Given the description of an element on the screen output the (x, y) to click on. 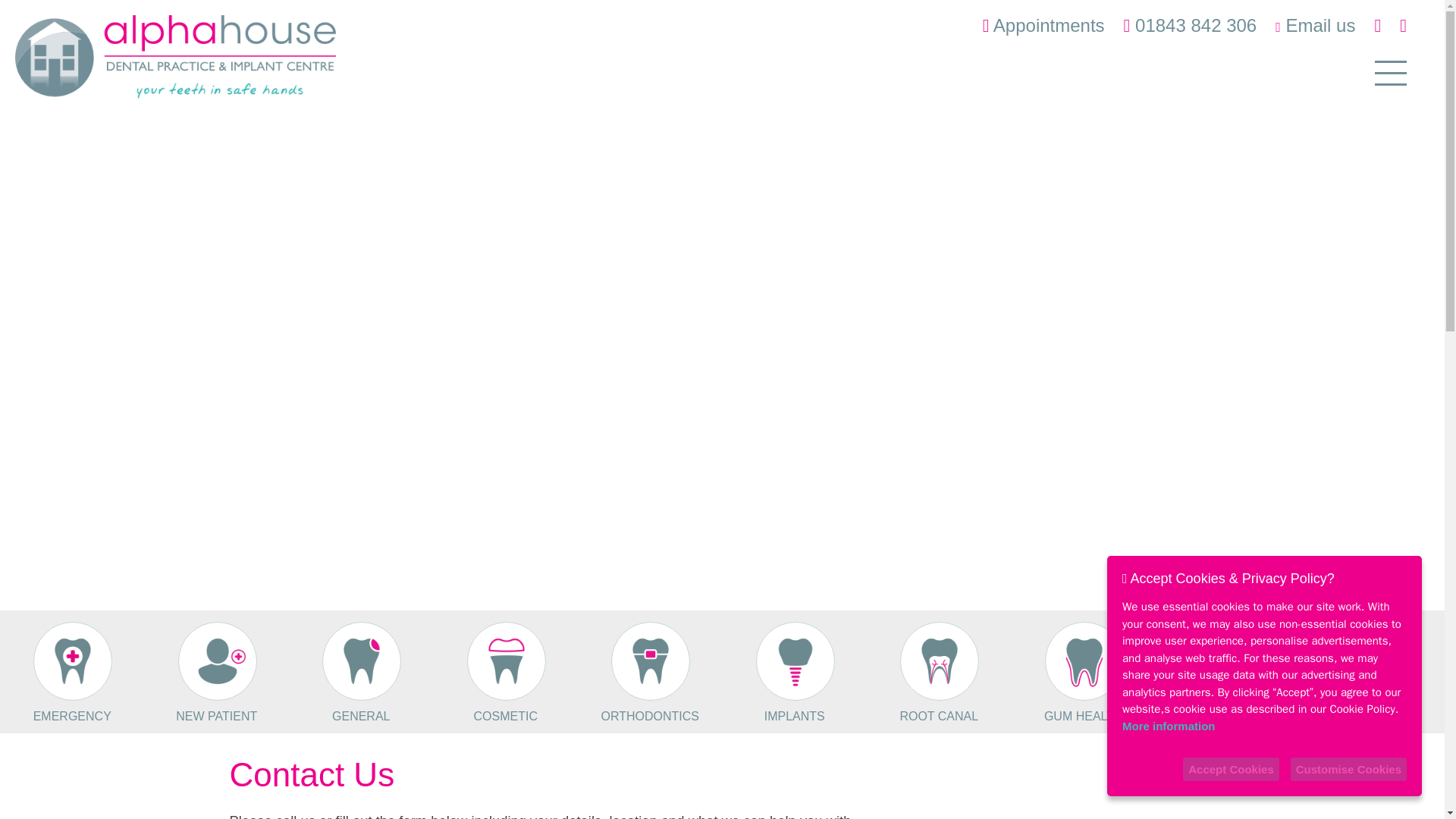
Email us (1315, 25)
Email Alpha House Dental Practice (1315, 25)
01843 842 306 (1190, 25)
Book your appointment with Alpha House Dental Practice (1043, 25)
EMERGENCY (71, 673)
Appointments (1043, 25)
Call Alpha House Dental Practice (1190, 25)
NEW PATIENT (216, 673)
